Given the description of an element on the screen output the (x, y) to click on. 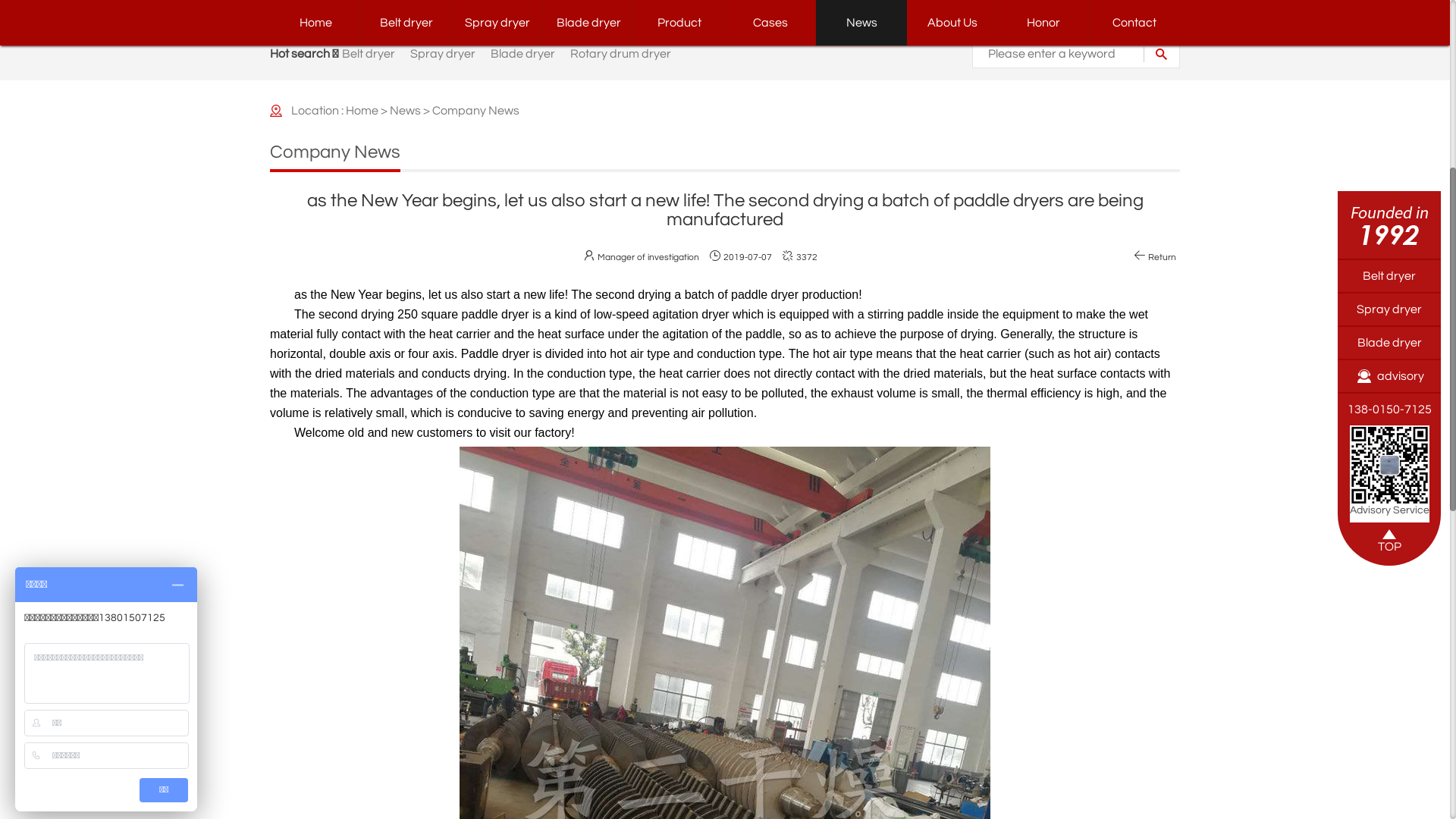
News Element type: text (860, 422)
Spray dryer Element type: text (1388, 708)
Product Element type: text (678, 422)
Spray dryer Element type: text (496, 422)
Belt dryer Element type: text (405, 422)
English Element type: hover (1167, 7)
News Element type: text (404, 511)
Changzhou No.2 Drying Equipment Factory Co., Ltd. Element type: hover (1388, 625)
Home Element type: text (314, 422)
Rotary drum dryer Element type: text (620, 454)
Company News Element type: text (475, 511)
Home Element type: text (361, 511)
Honor Element type: text (1042, 422)
Belt dryer Element type: text (1388, 675)
Cases Element type: text (769, 422)
Blade dryer Element type: text (587, 422)
13801507125 Element type: hover (996, 71)
Belt dryer Element type: text (368, 454)
Spray dryer Element type: text (442, 454)
About Us Element type: text (951, 422)
Return Element type: text (1154, 657)
Blade dryer Element type: text (1388, 742)
Blade dryer Element type: text (522, 454)
Changzhou No.2 Drying Equipment Factory Co., Ltd. Element type: hover (496, 68)
Contact Element type: text (1133, 422)
advisory Element type: text (1388, 776)
